Given the description of an element on the screen output the (x, y) to click on. 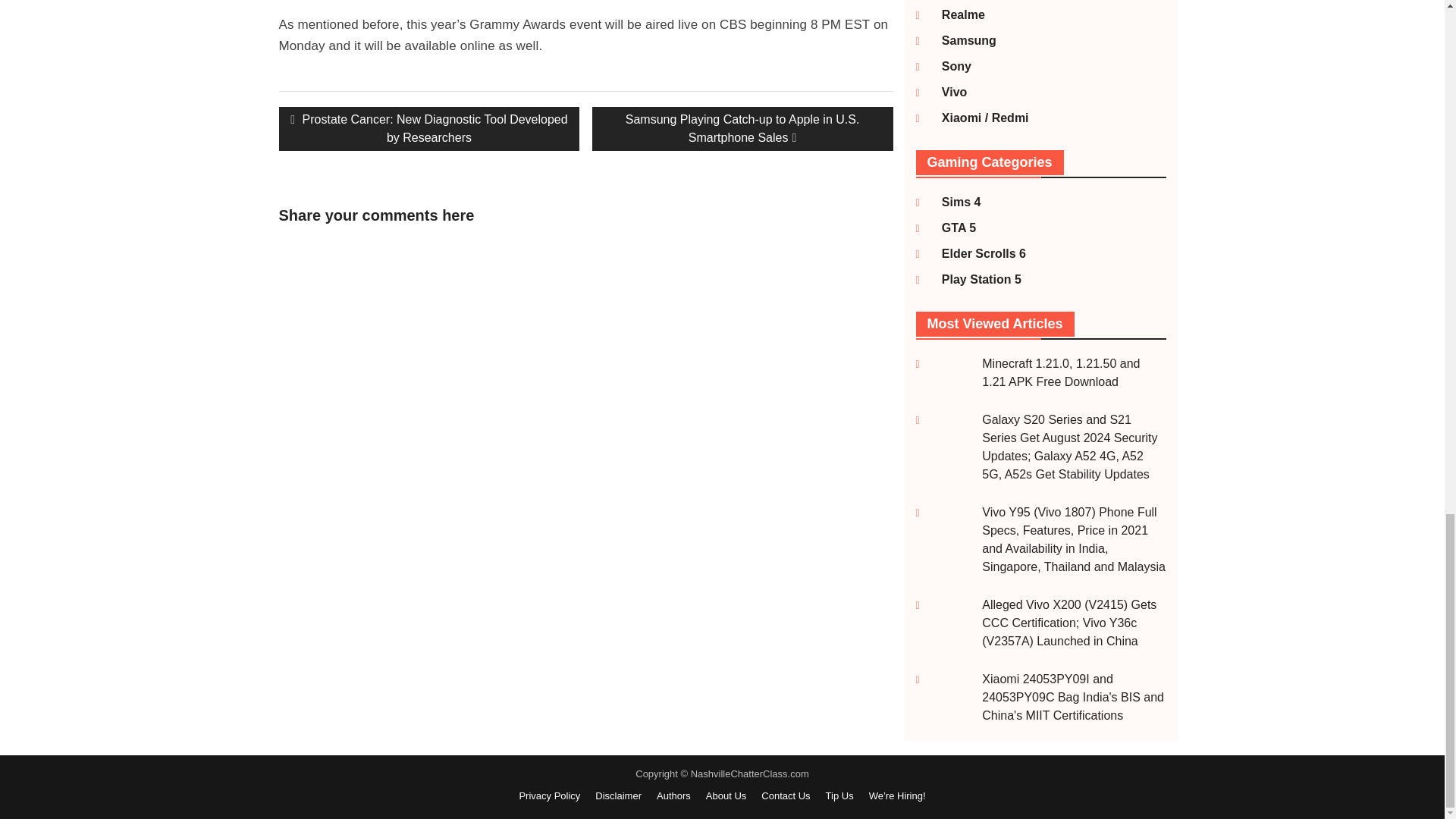
Minecraft 1.21.0, 1.21.50 and 1.21 APK Free Download (1060, 372)
